Given the description of an element on the screen output the (x, y) to click on. 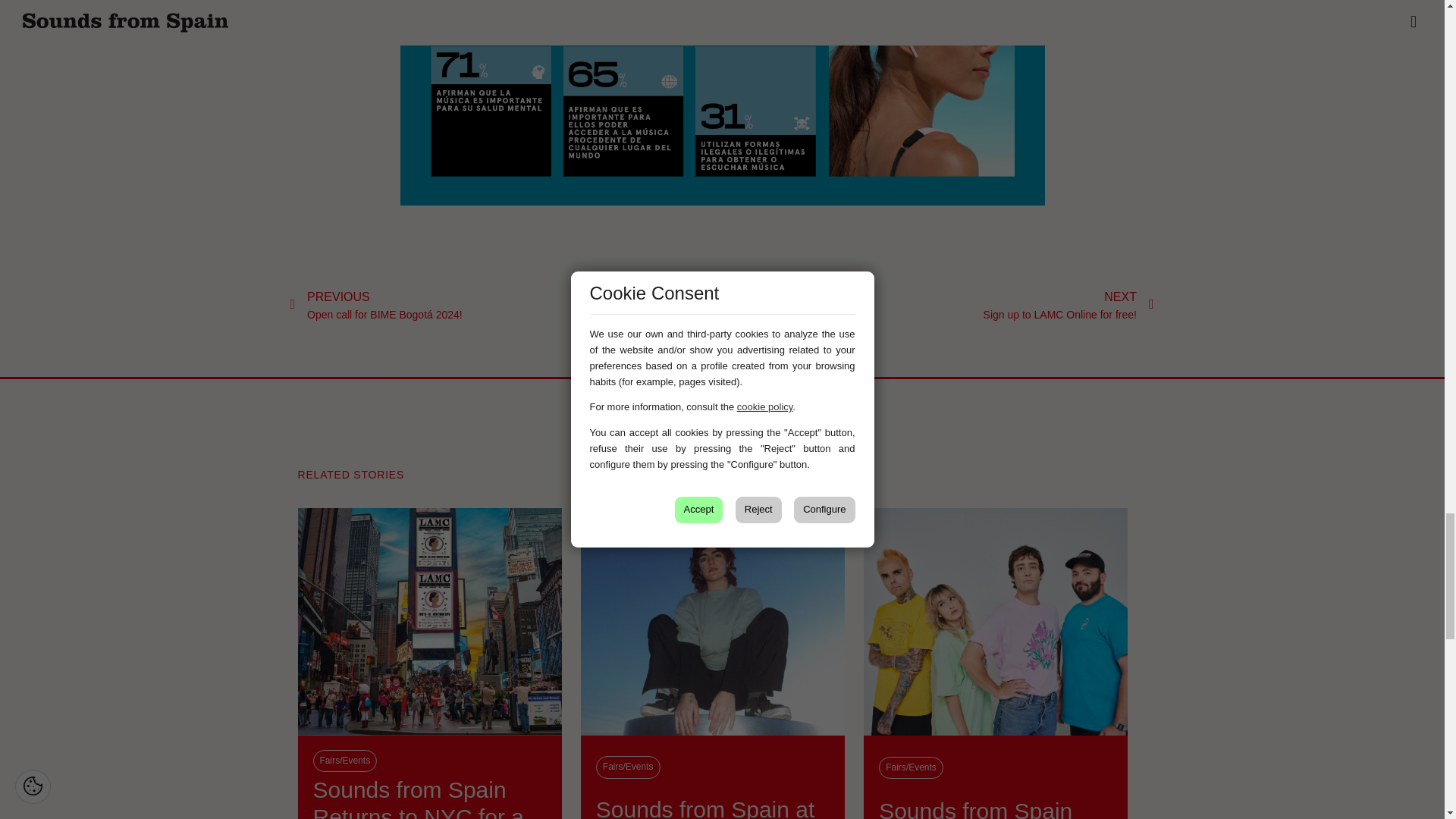
Sounds from Spain band selection at BIME Bogota 2024 (995, 808)
Sounds from Spain at LAMC Virtual 2024 (712, 807)
